Given the description of an element on the screen output the (x, y) to click on. 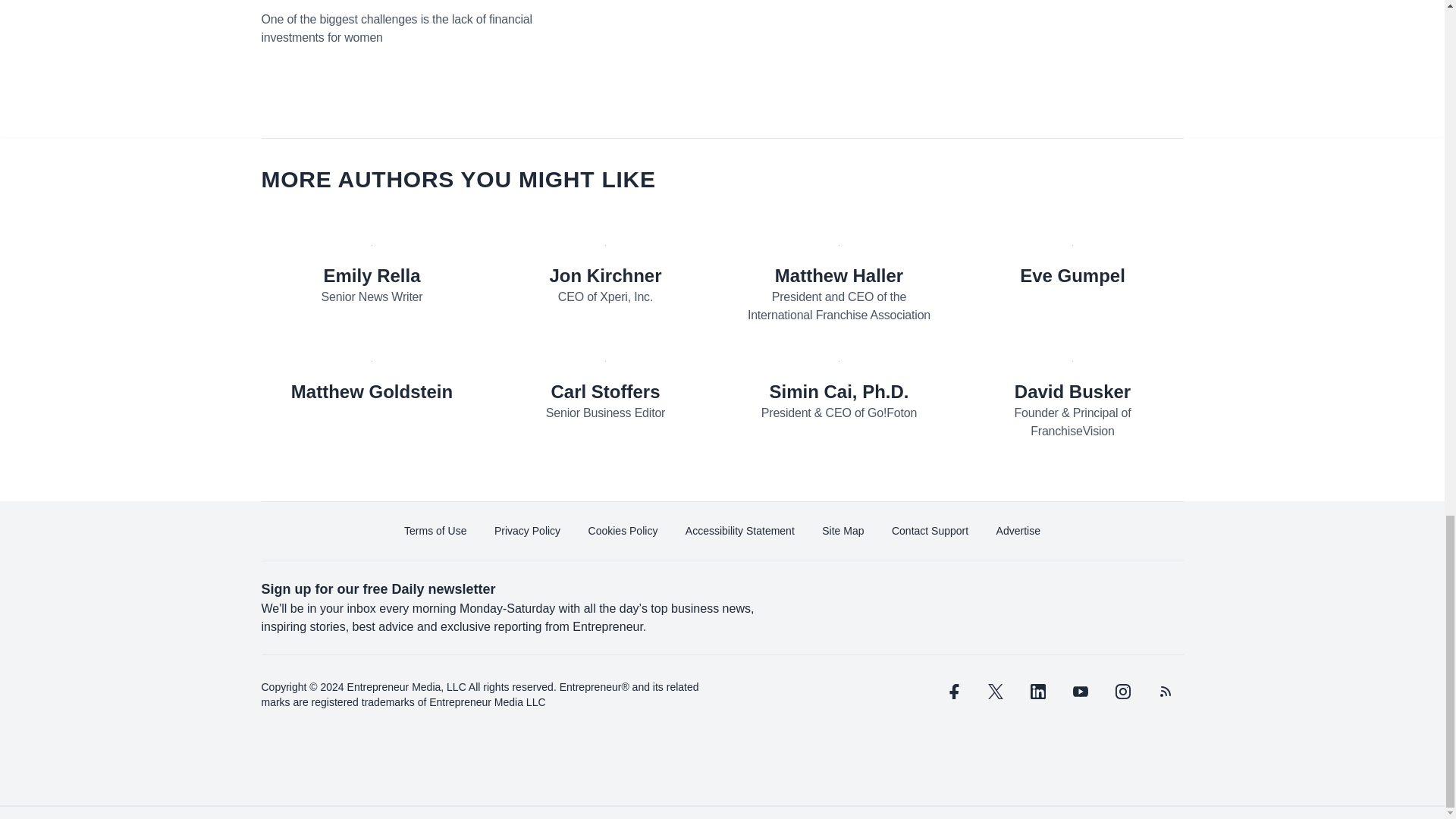
youtube (1079, 691)
facebook (952, 691)
twitter (994, 691)
linkedin (1037, 691)
rss (1164, 691)
instagram (1121, 691)
